Given the description of an element on the screen output the (x, y) to click on. 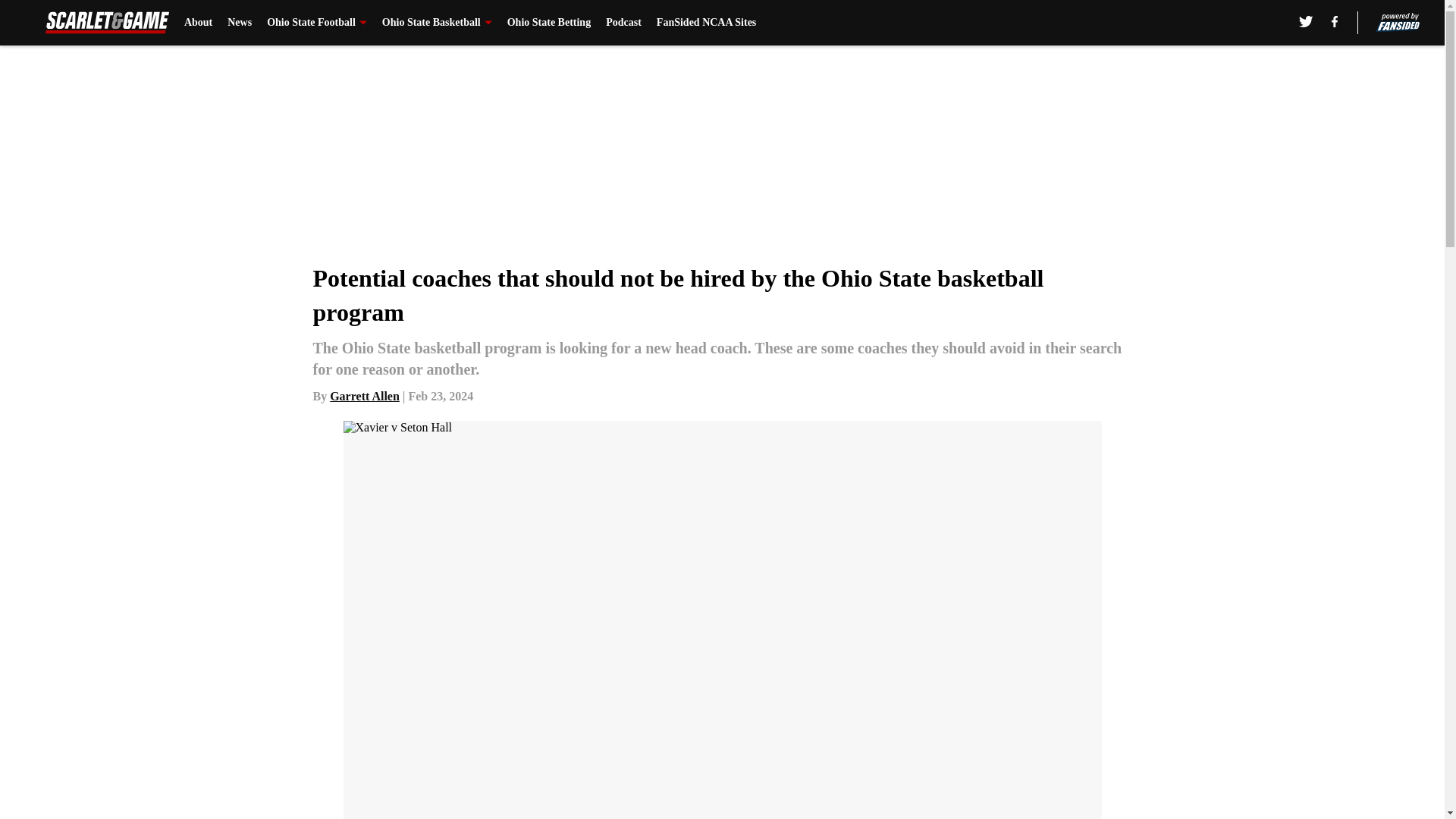
Garrett Allen (364, 395)
News (239, 22)
About (198, 22)
Podcast (623, 22)
Ohio State Betting (548, 22)
FanSided NCAA Sites (705, 22)
